Given the description of an element on the screen output the (x, y) to click on. 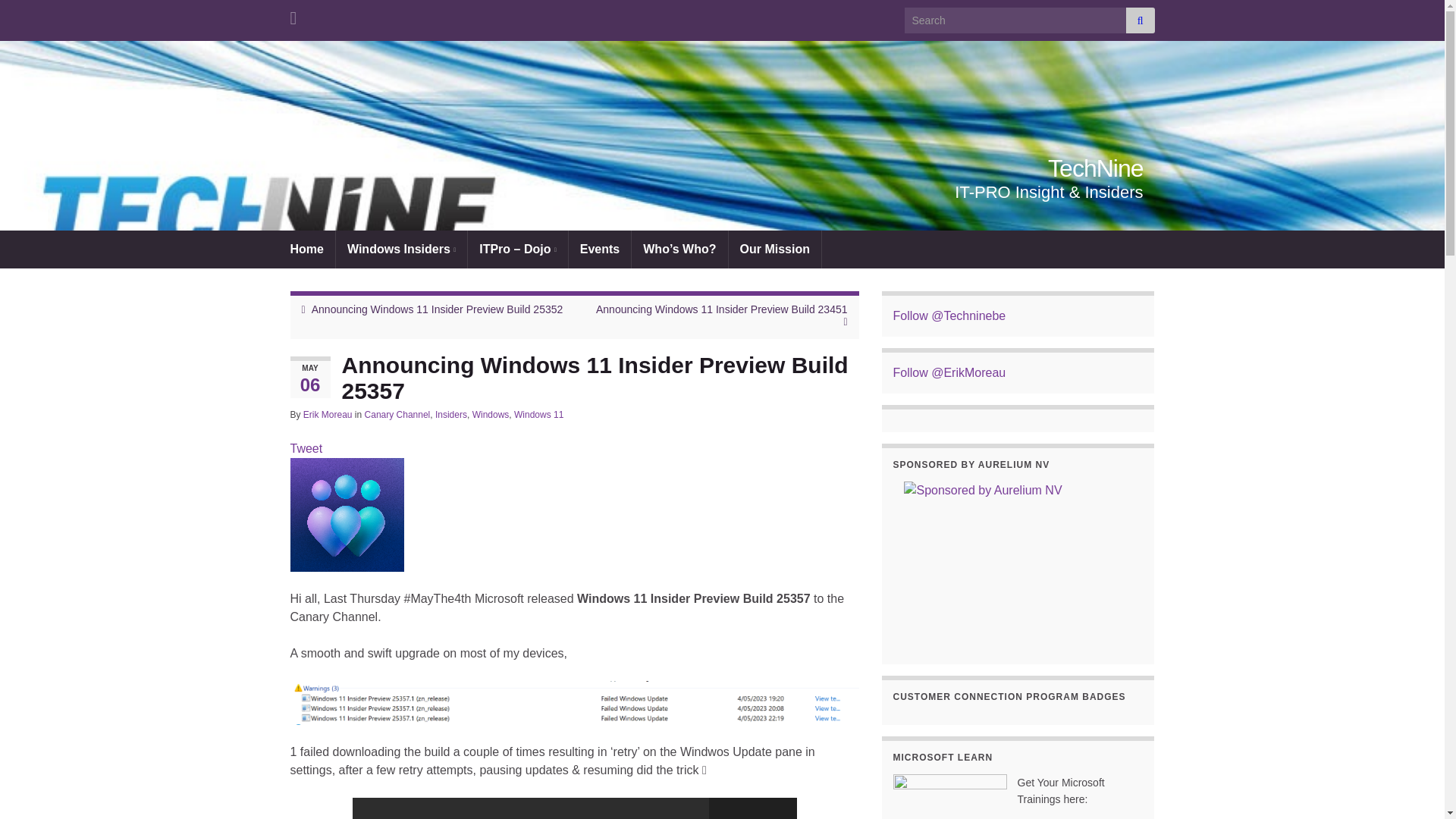
Canary Channel (397, 414)
Our Mission (775, 249)
Insiders (451, 414)
Windows 11 (538, 414)
Tweet (305, 448)
Announcing Windows 11 Insider Preview Build 23451 (721, 309)
Sponsored by Aurelium NV (1017, 560)
Windows (490, 414)
Home (306, 249)
Announcing Windows 11 Insider Preview Build 25352 (437, 309)
Events (599, 249)
Go back to the front page (1095, 167)
Erik Moreau (327, 414)
Windows Insiders (401, 249)
TechNine (1095, 167)
